Given the description of an element on the screen output the (x, y) to click on. 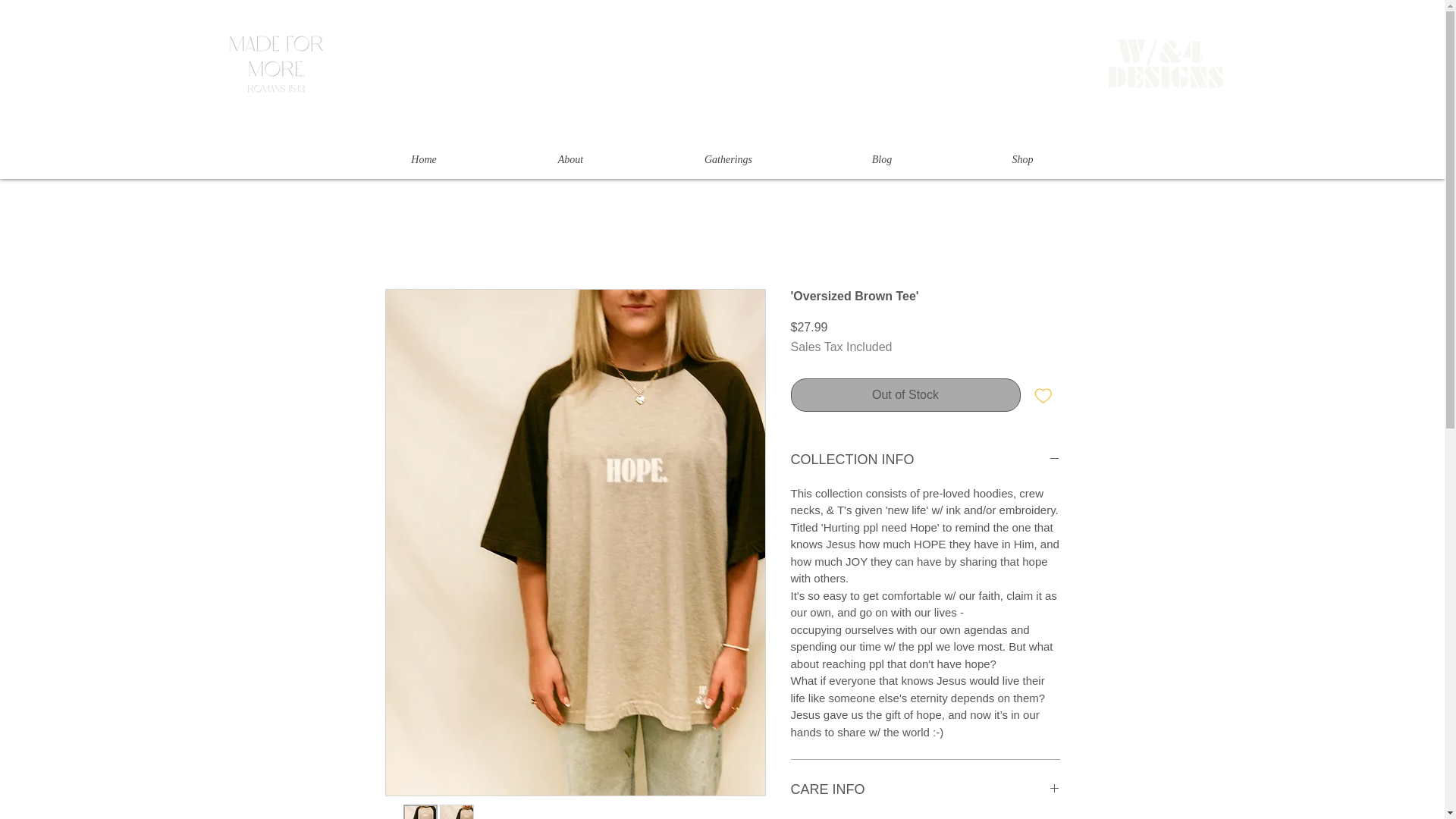
Out of Stock (905, 394)
CARE INFO (924, 790)
Shop (1021, 159)
Gatherings (728, 159)
Blog (882, 159)
Home (423, 159)
COLLECTION INFO (924, 459)
About (571, 159)
